Given the description of an element on the screen output the (x, y) to click on. 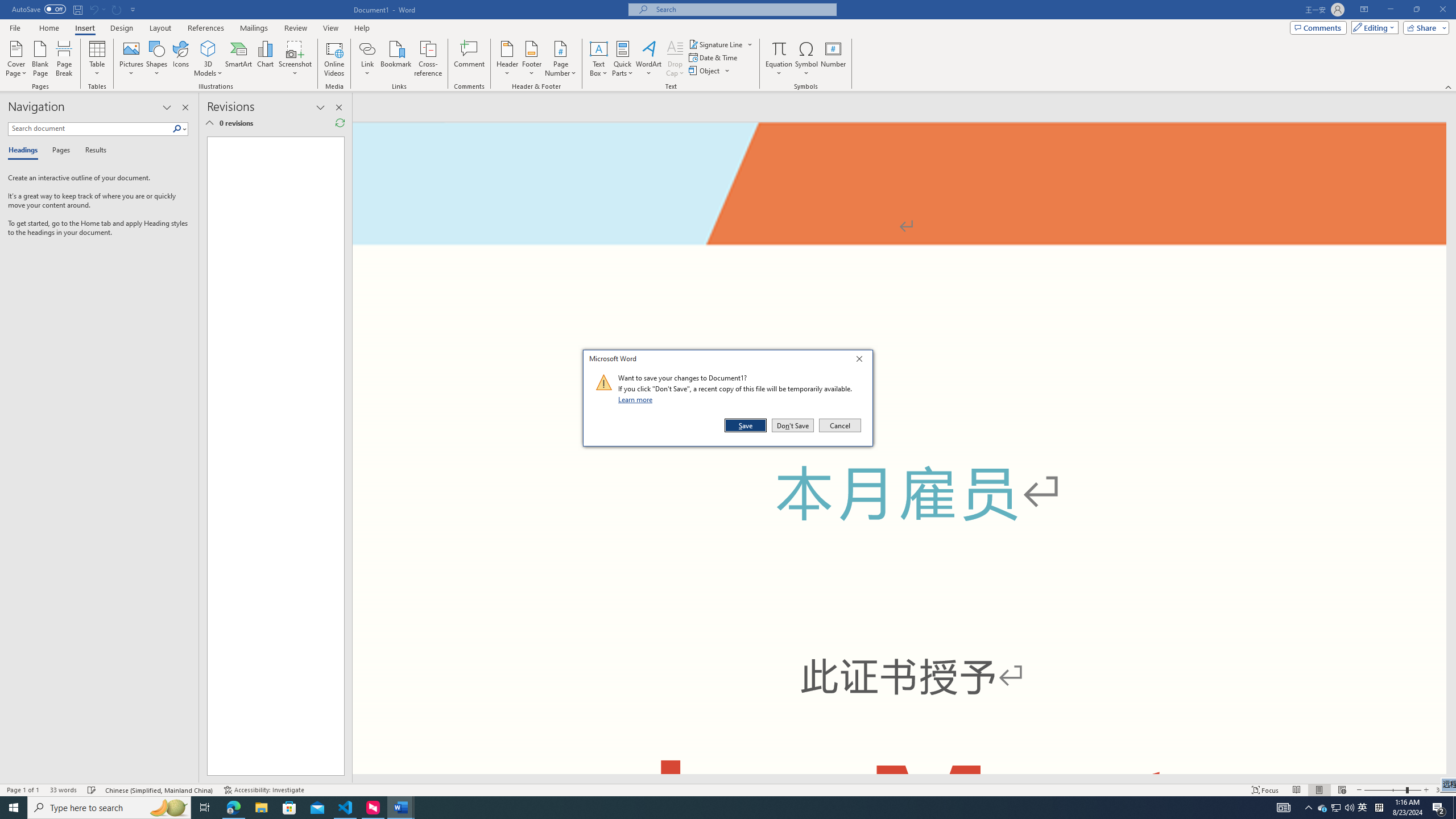
Notification Chevron (1308, 807)
Header -Section 1- (898, 163)
Icons (180, 58)
File Explorer (261, 807)
Date & Time... (714, 56)
Shapes (156, 58)
Search document (89, 128)
Accessibility Checker Accessibility: Investigate (263, 790)
Page Number Page 1 of 1 (22, 790)
